Given the description of an element on the screen output the (x, y) to click on. 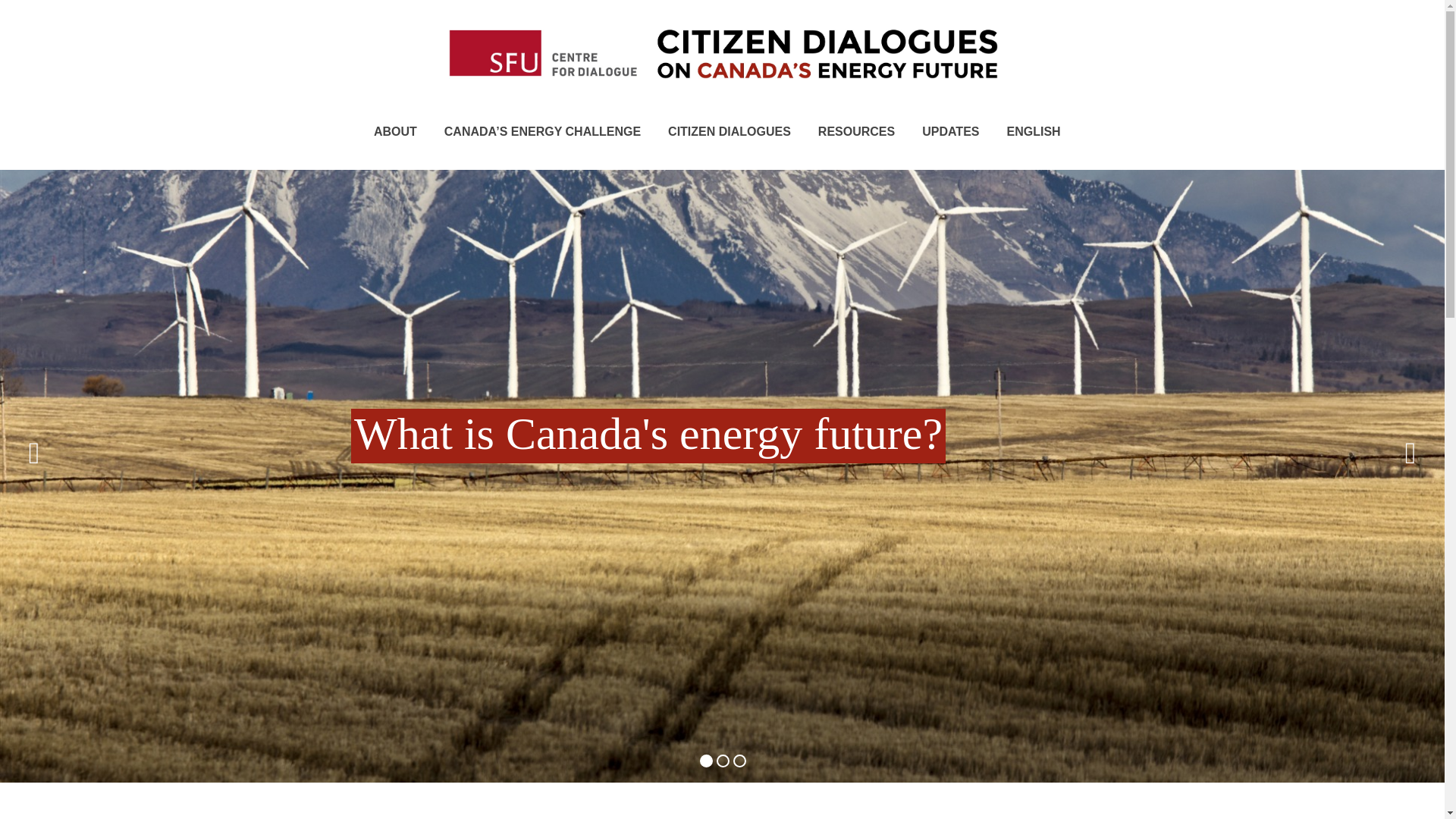
UPDATES (950, 131)
English (1034, 131)
CITIZEN DIALOGUES (729, 131)
ENGLISH (1034, 131)
ABOUT (394, 131)
RESOURCES (856, 131)
